Given the description of an element on the screen output the (x, y) to click on. 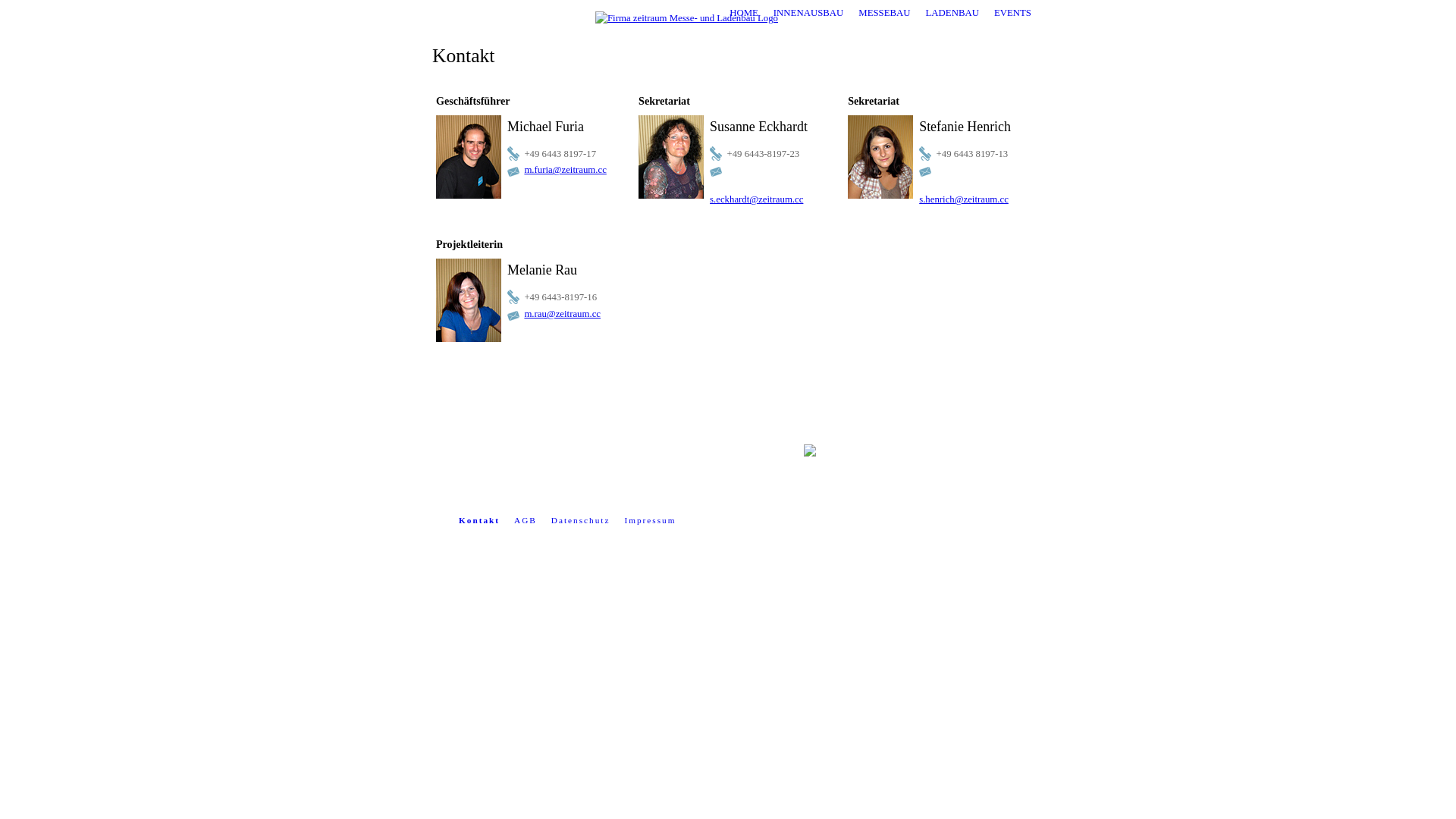
INNENAUSBAU Element type: text (807, 12)
s.eckhardt@zeitraum.cc Element type: text (756, 199)
m.rau@zeitraum.cc Element type: text (562, 313)
EVENTS Element type: text (1012, 12)
s.henrich@zeitraum.cc Element type: text (963, 199)
m.furia@zeitraum.cc Element type: text (564, 169)
Impressum Element type: text (645, 520)
AGB Element type: text (520, 520)
Datenschutz Element type: text (576, 520)
Kontakt Element type: text (474, 520)
HOME Element type: text (743, 12)
MESSEBAU Element type: text (883, 12)
LADENBAU Element type: text (952, 12)
